Given the description of an element on the screen output the (x, y) to click on. 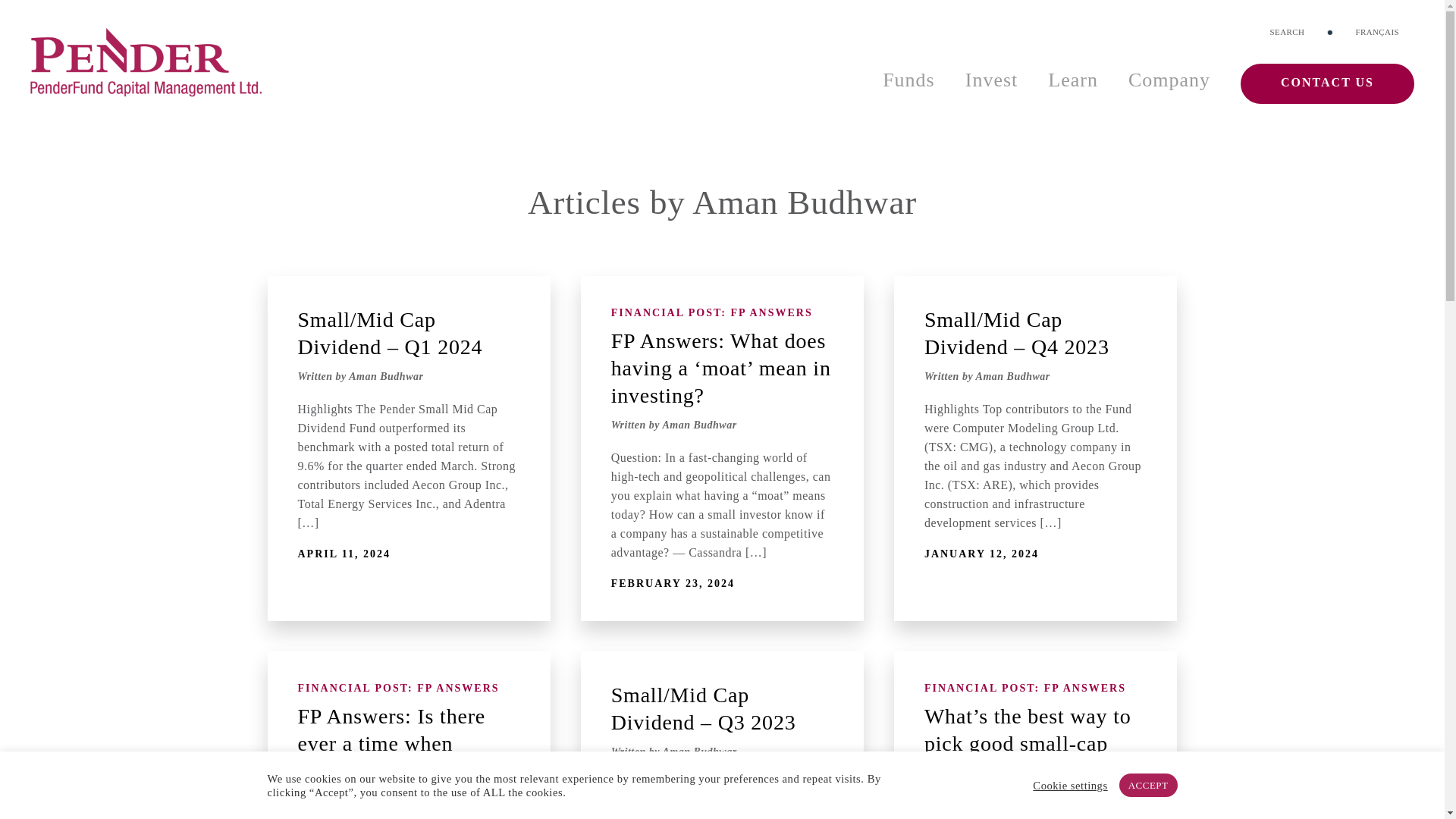
SEARCH (1286, 31)
Invest (991, 79)
Funds (908, 79)
